Given the description of an element on the screen output the (x, y) to click on. 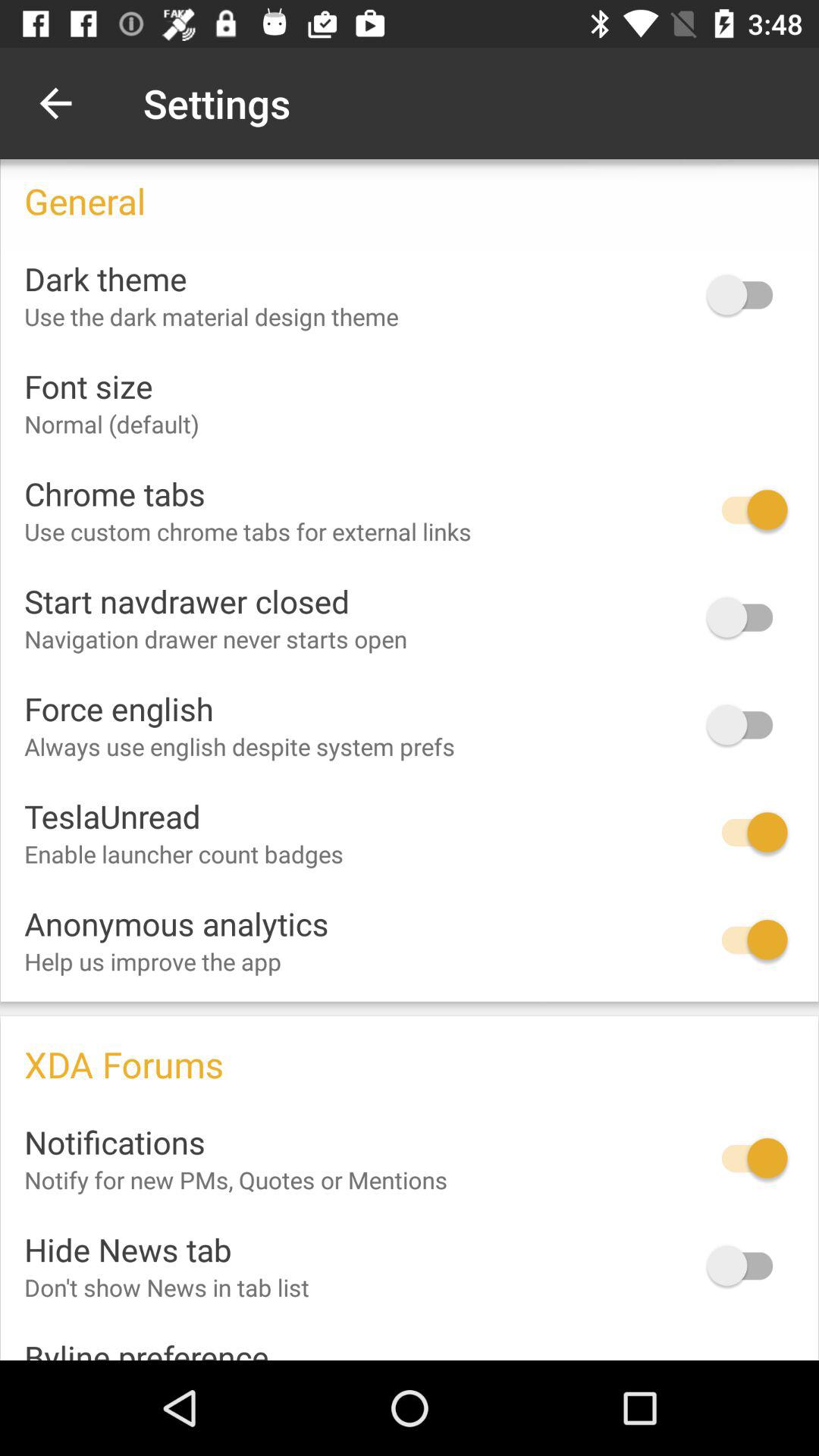
toggle anonymous analytics (747, 939)
